Given the description of an element on the screen output the (x, y) to click on. 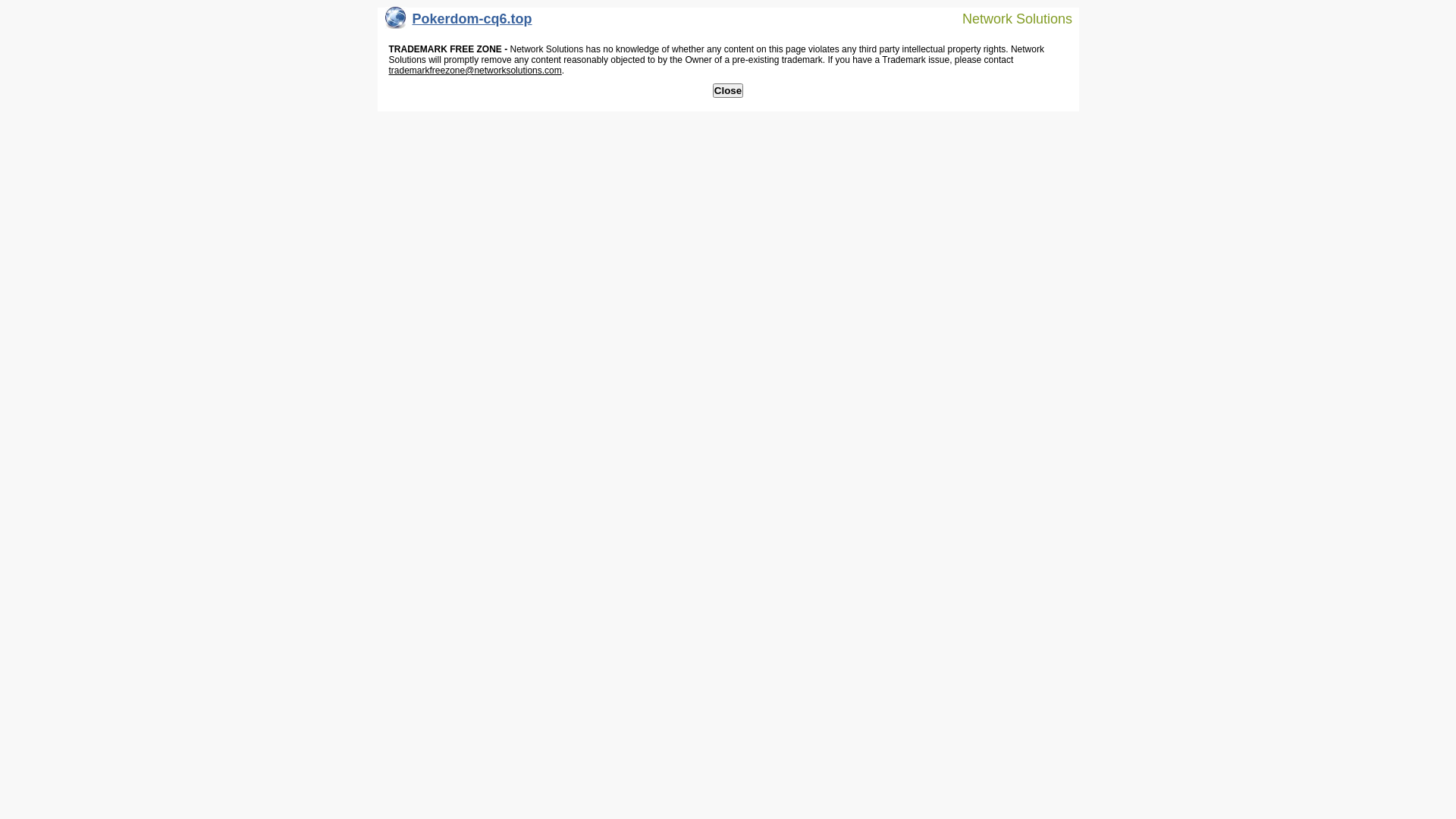
trademarkfreezone@networksolutions.com Element type: text (474, 70)
Pokerdom-cq6.top Element type: text (458, 21)
Close Element type: text (727, 90)
Network Solutions Element type: text (1007, 17)
